Given the description of an element on the screen output the (x, y) to click on. 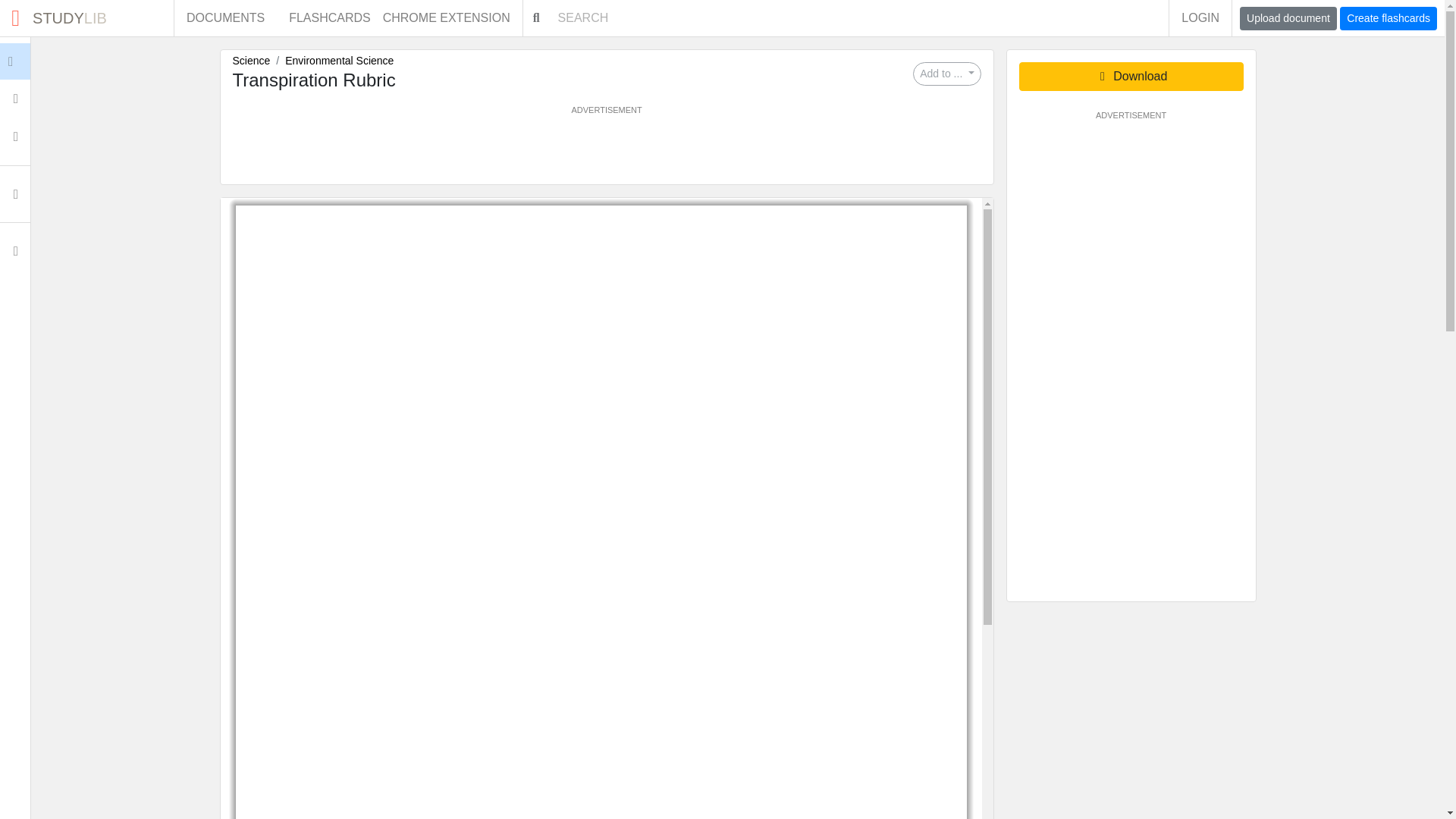
DOCUMENTS (225, 18)
FLASHCARDS (329, 18)
Upload document (1288, 18)
CHROME EXTENSION (452, 18)
Environmental Science (339, 60)
Create flashcards (1388, 18)
LOGIN (86, 18)
Advertisement (1200, 18)
Add to ... (605, 150)
